Given the description of an element on the screen output the (x, y) to click on. 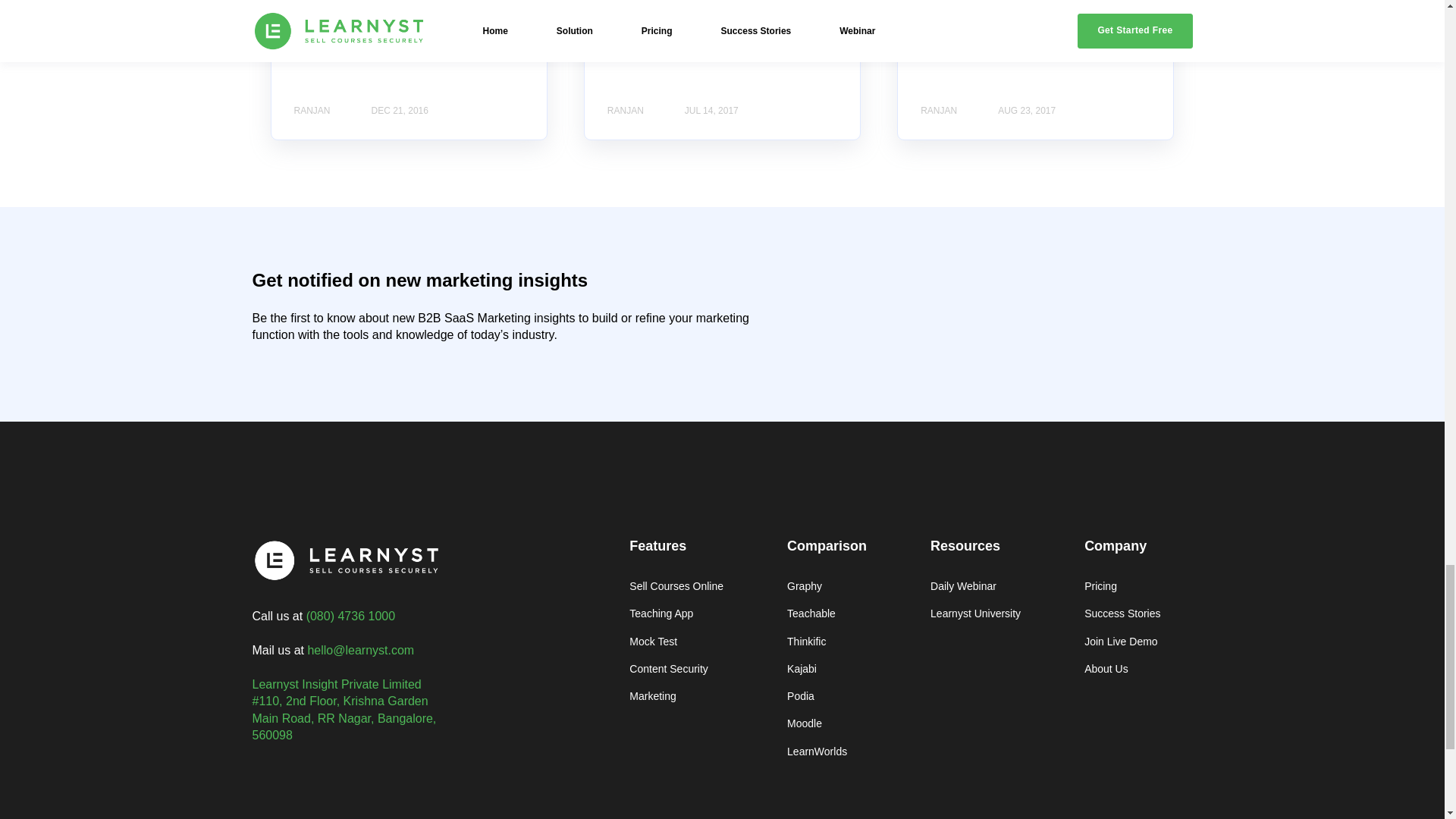
Learnyst Insight Private Limited (335, 684)
Graphy (826, 585)
Content Security (675, 668)
Teachable (826, 613)
Teaching App (675, 613)
Podia (826, 696)
Mock Test (675, 641)
Moodle (826, 723)
Kajabi (826, 668)
Krishna Garden Main Road, (339, 708)
